Given the description of an element on the screen output the (x, y) to click on. 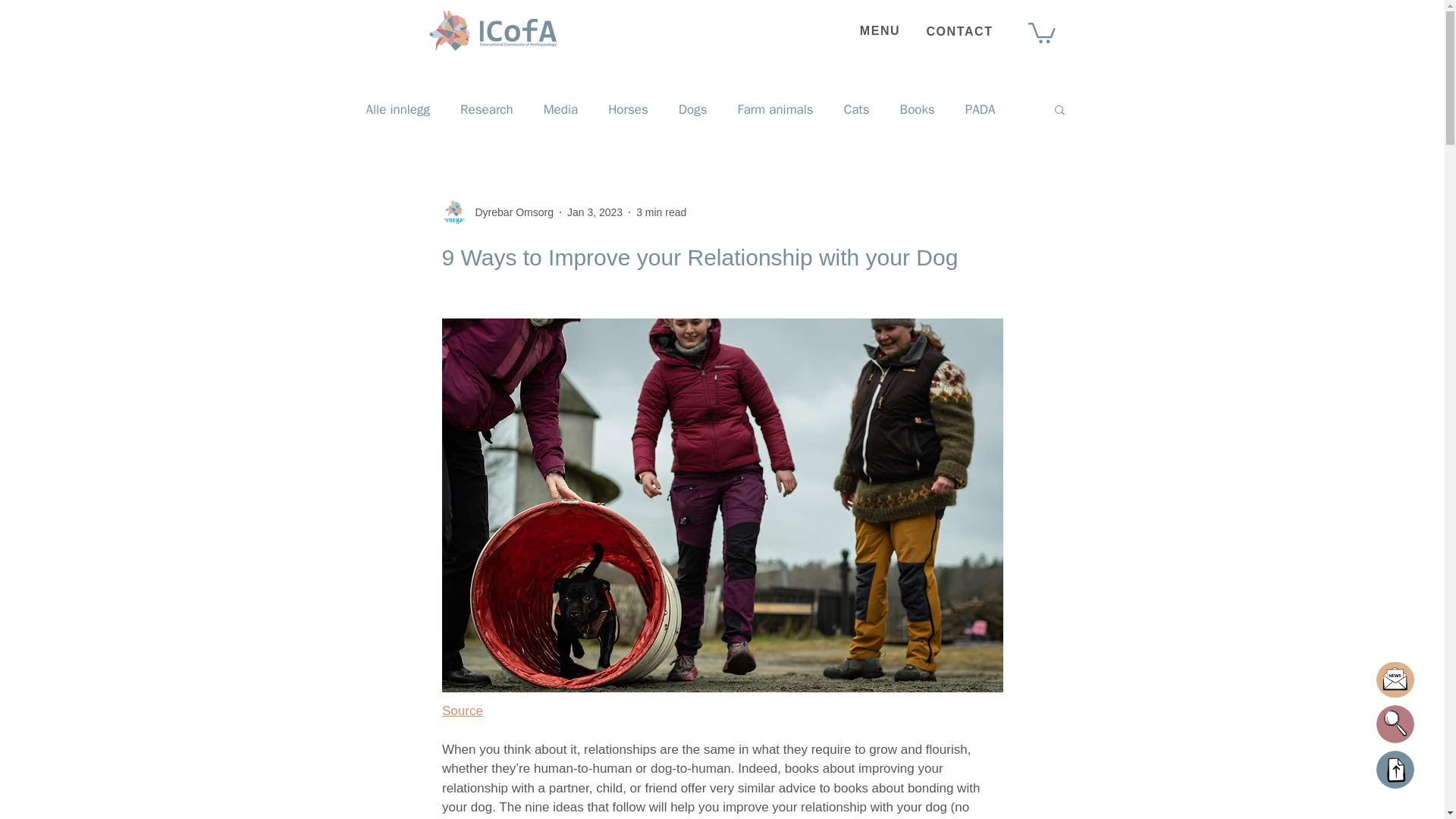
PADA (980, 108)
Research (486, 108)
Cats (856, 108)
Jan 3, 2023 (595, 212)
Dogs (692, 108)
Horses (627, 108)
Farm animals (774, 108)
Alle innlegg (397, 108)
Dyrebar Omsorg (509, 212)
3 min read (660, 212)
Media (560, 108)
Dyrebar Omsorg (497, 211)
Books (916, 108)
Source (461, 710)
CONTACT (960, 30)
